Given the description of an element on the screen output the (x, y) to click on. 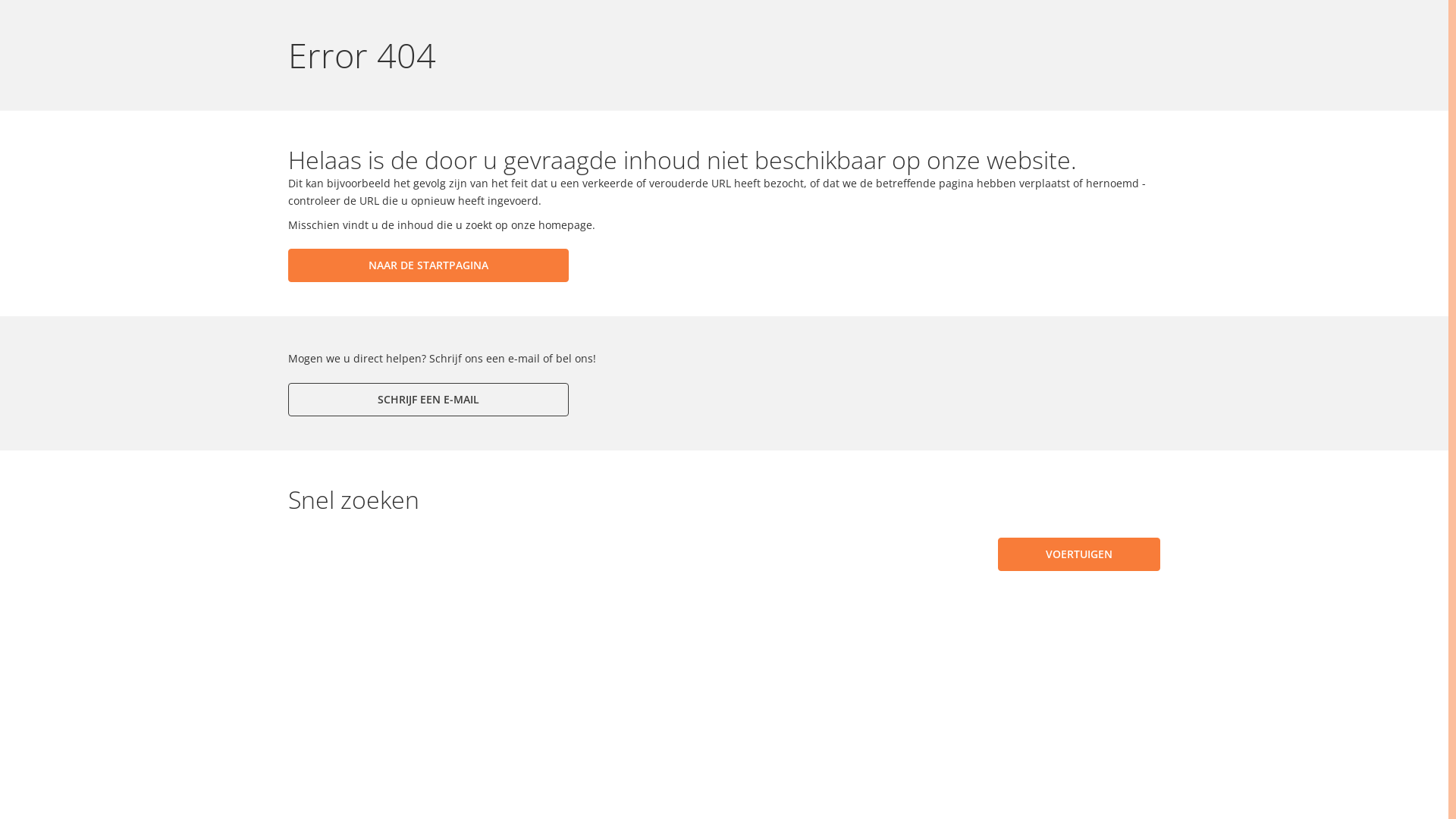
NAAR DE STARTPAGINA Element type: text (428, 265)
VOERTUIGEN Element type: text (1078, 554)
SCHRIJF EEN E-MAIL Element type: text (428, 399)
